Given the description of an element on the screen output the (x, y) to click on. 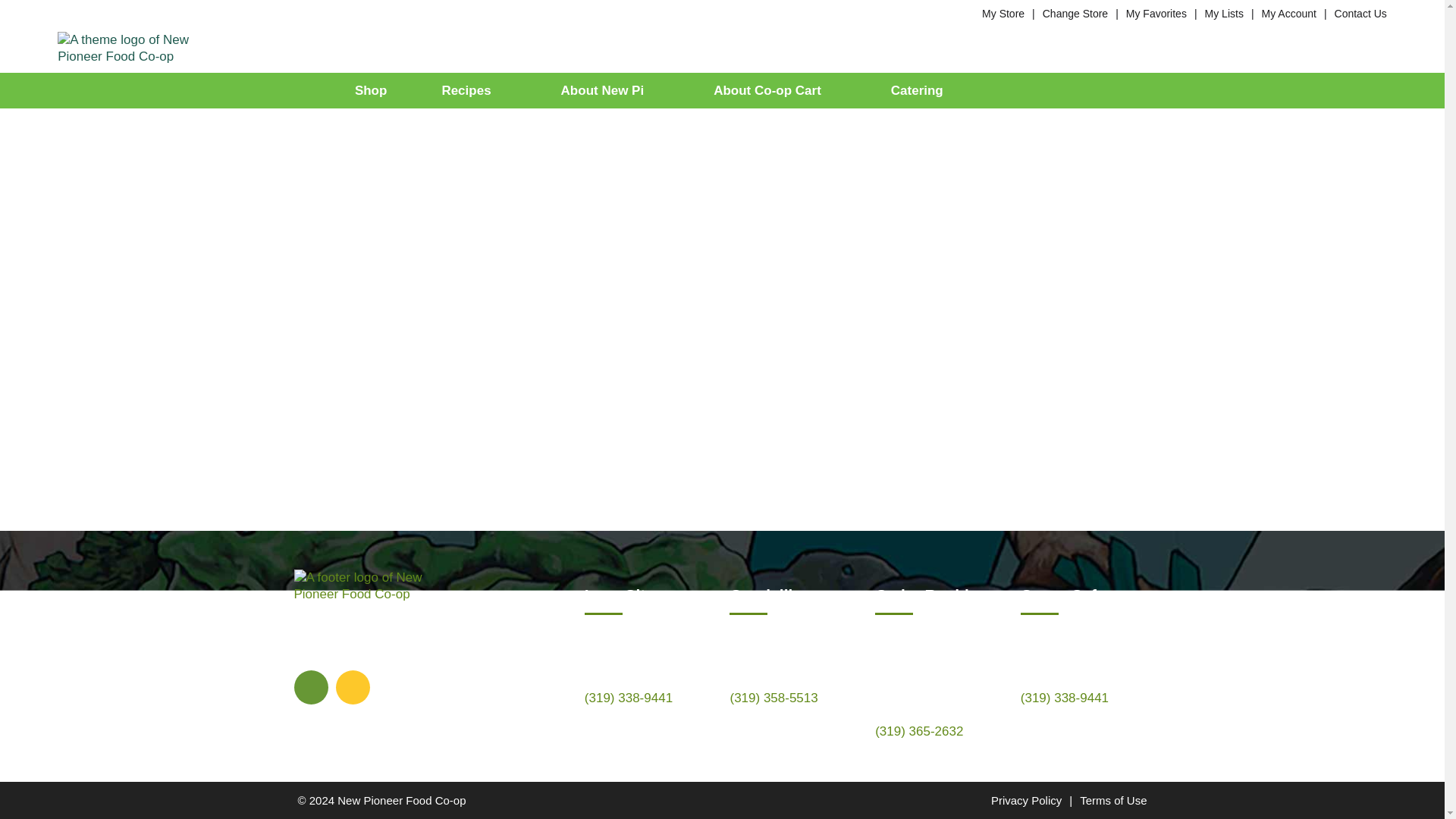
My Lists (1224, 13)
facebook (311, 686)
Recipes (472, 90)
My Store (1003, 13)
About New Pi (610, 90)
My Favorites (1155, 13)
Privacy Policy (1026, 799)
My Account (1289, 13)
About Co-op Cart (774, 90)
Change Store (1075, 13)
